Given the description of an element on the screen output the (x, y) to click on. 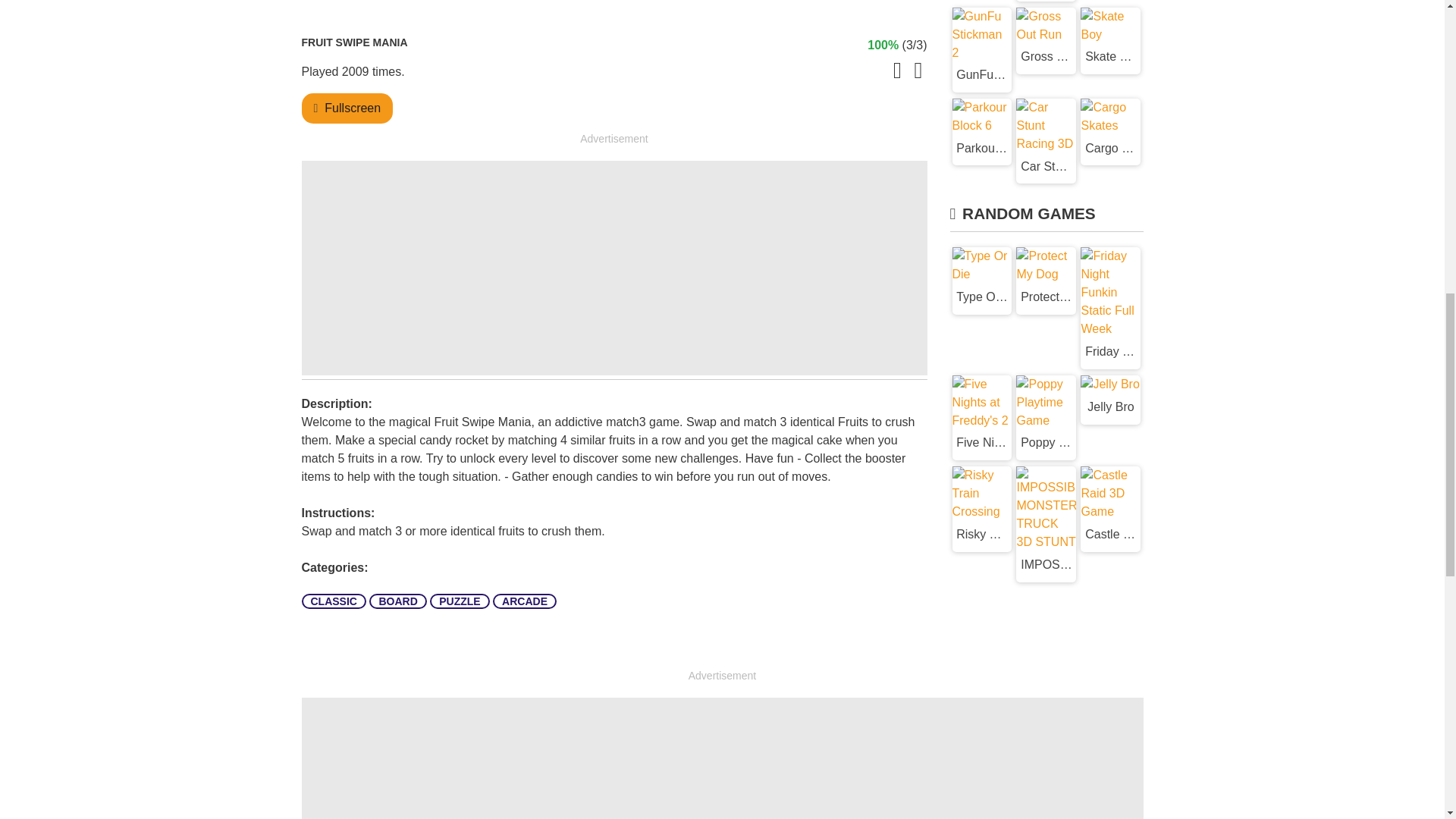
CLASSIC (333, 601)
Fullscreen (352, 107)
